Given the description of an element on the screen output the (x, y) to click on. 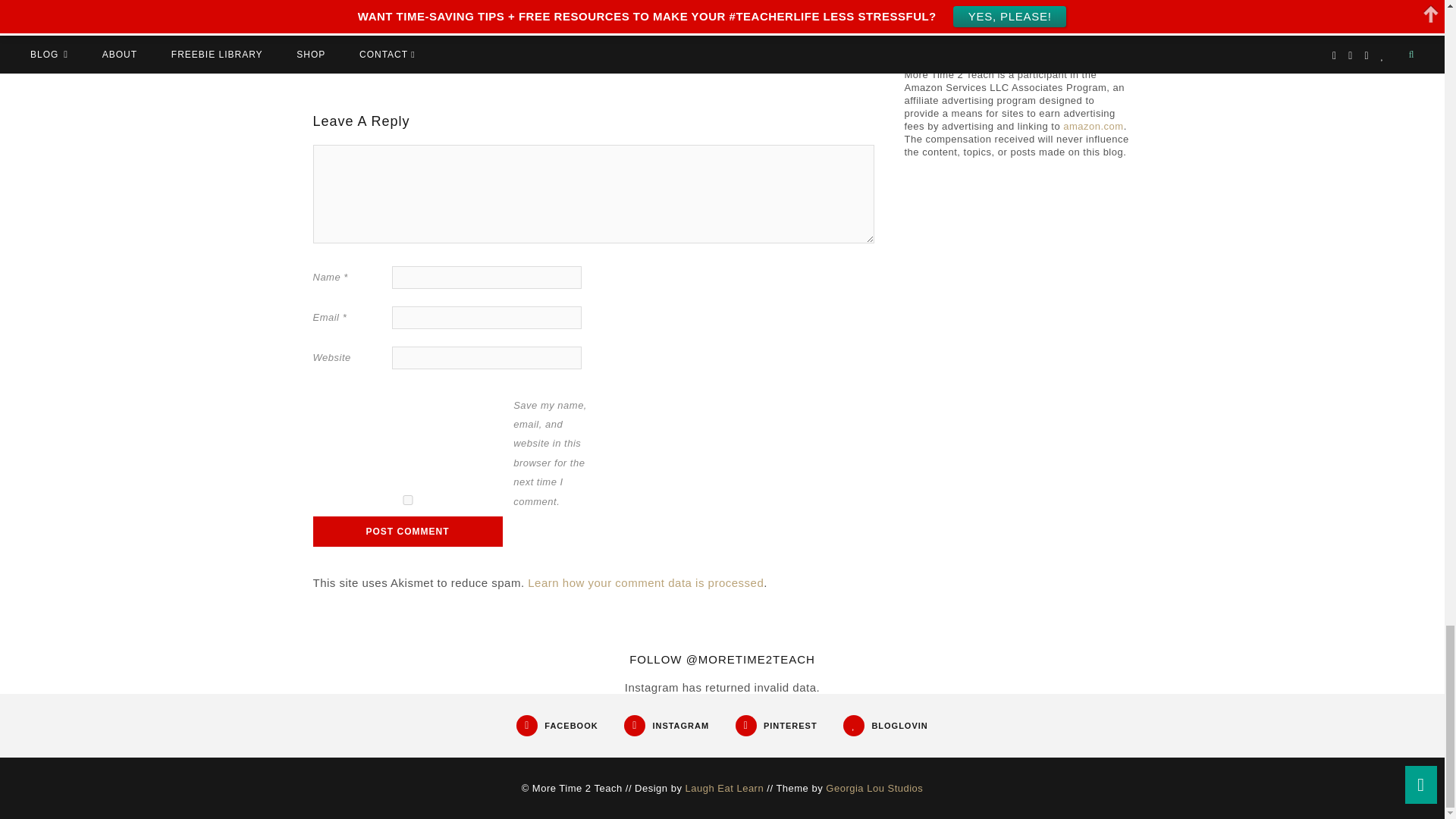
Post Comment (407, 531)
Simply Beautiful Blogger Templates (874, 787)
yes (407, 500)
